Given the description of an element on the screen output the (x, y) to click on. 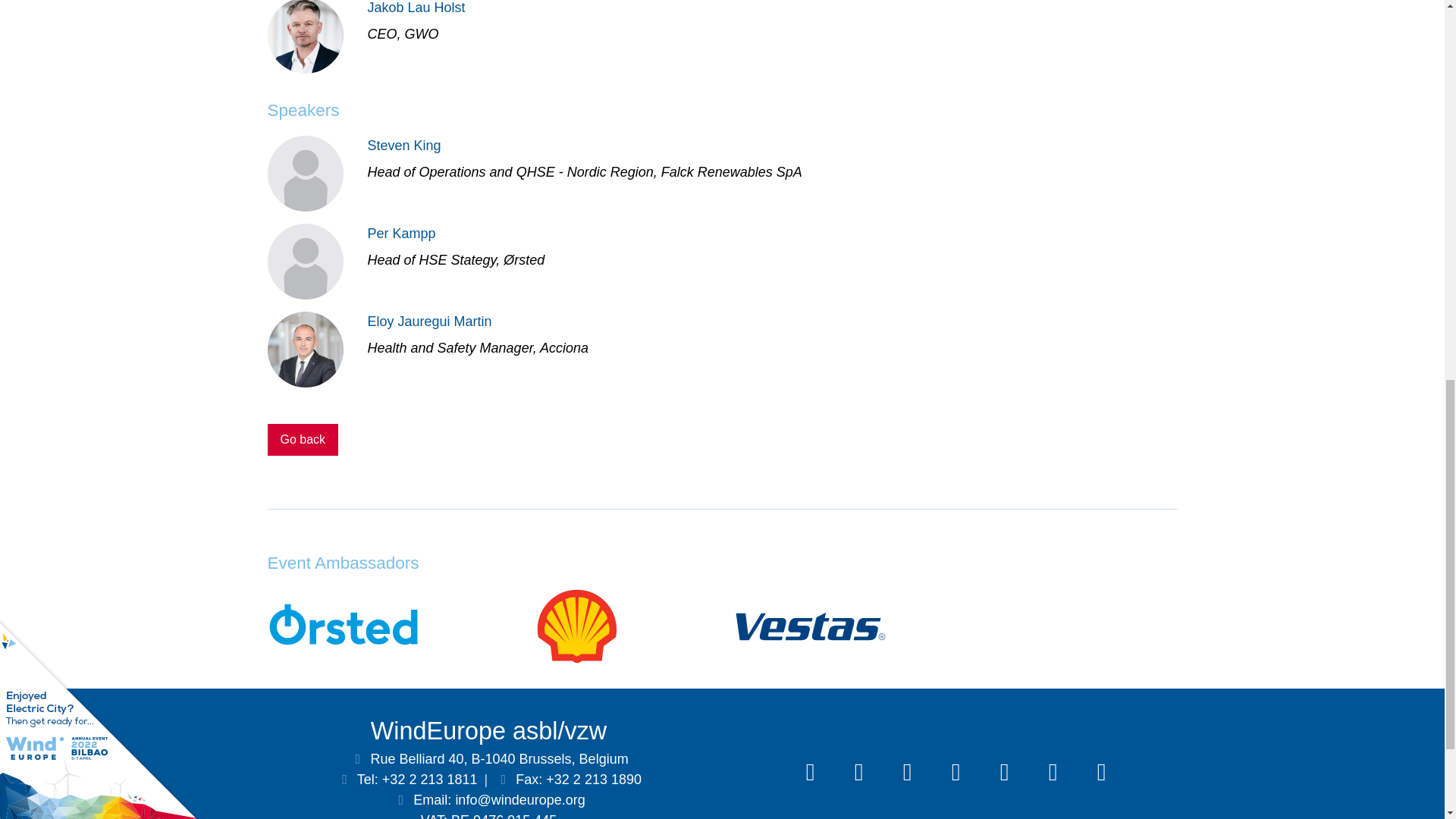
Click here to visit our events Twitter account (906, 771)
Click here to visit our official Instagram account (1101, 771)
Click here to visit our LinkedIn page (810, 771)
Click here to visit our official Twitter account (858, 771)
Click here to see our videos on YouTube (1003, 771)
Click here to visit our Facebook page (955, 771)
Click here to see our photos on Flickr (1051, 771)
